Given the description of an element on the screen output the (x, y) to click on. 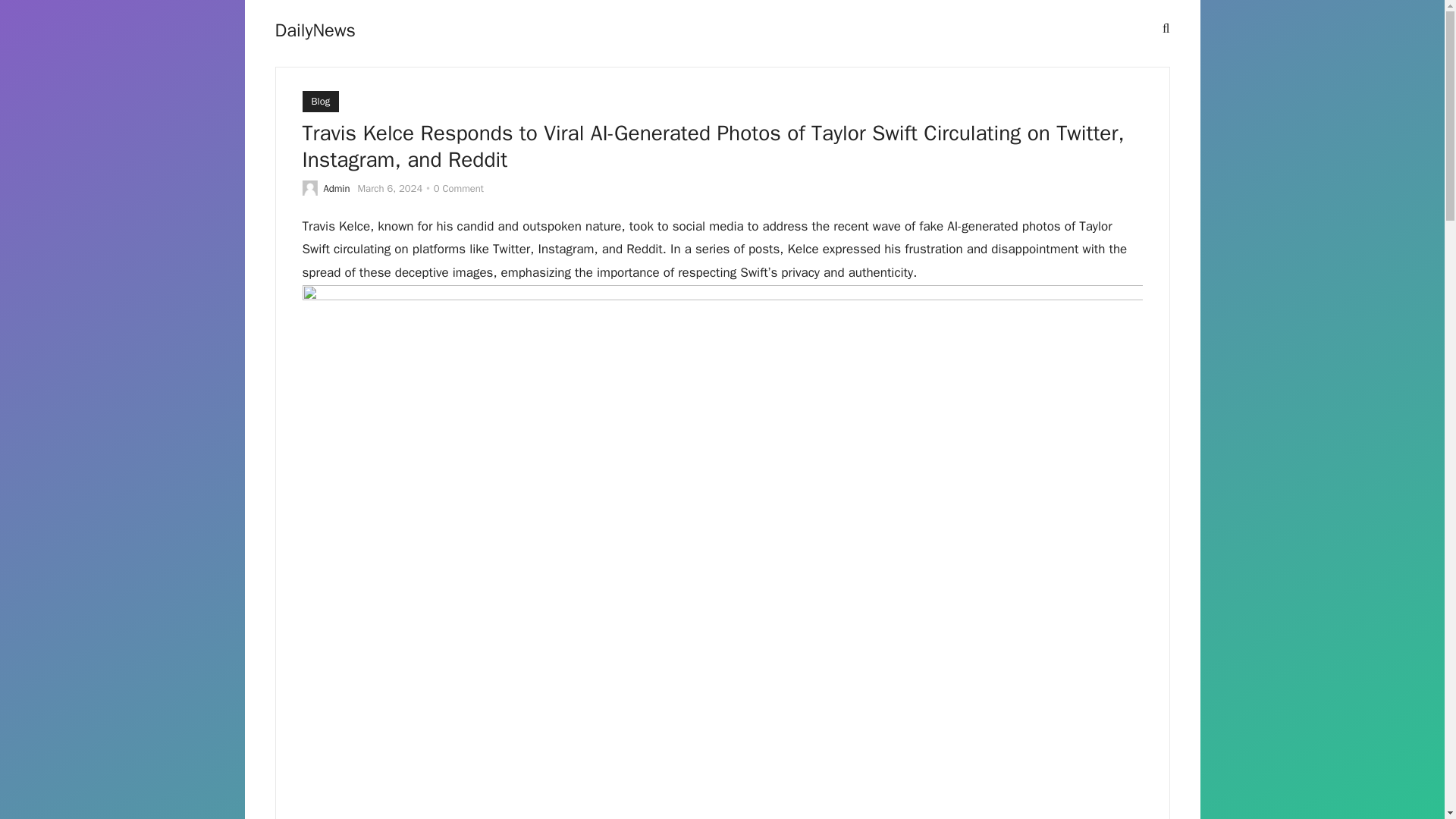
Admin (336, 187)
DailyNews (315, 30)
Blog (320, 101)
Posts by Admin (336, 187)
0 Comment (458, 187)
